Given the description of an element on the screen output the (x, y) to click on. 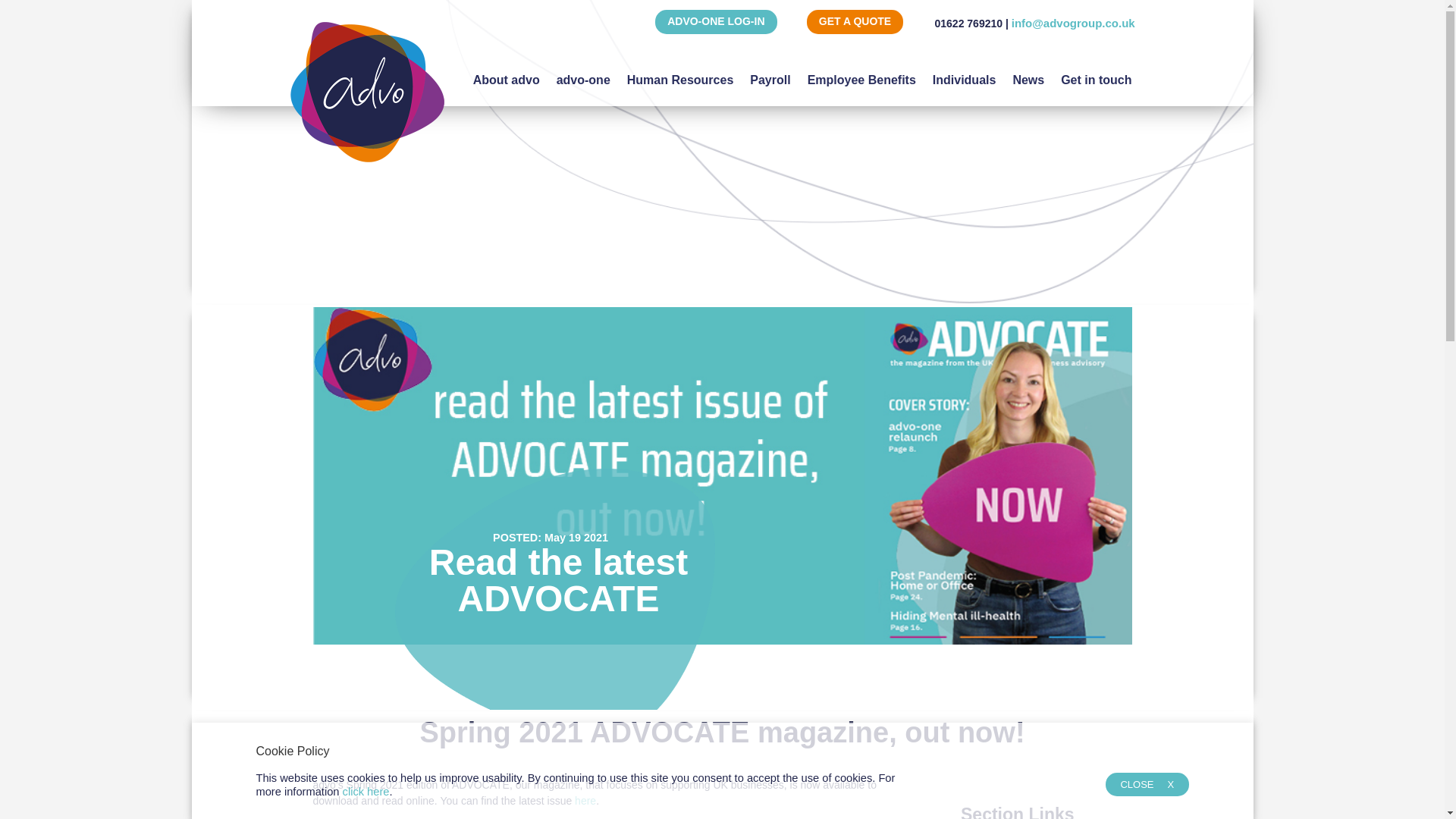
Get in touch (1096, 72)
ADVO-ONE LOG-IN (715, 21)
overlay-shape (554, 604)
Employee Benefits (861, 72)
Human Resources (680, 72)
GET A QUOTE (854, 21)
About advo (506, 72)
